Given the description of an element on the screen output the (x, y) to click on. 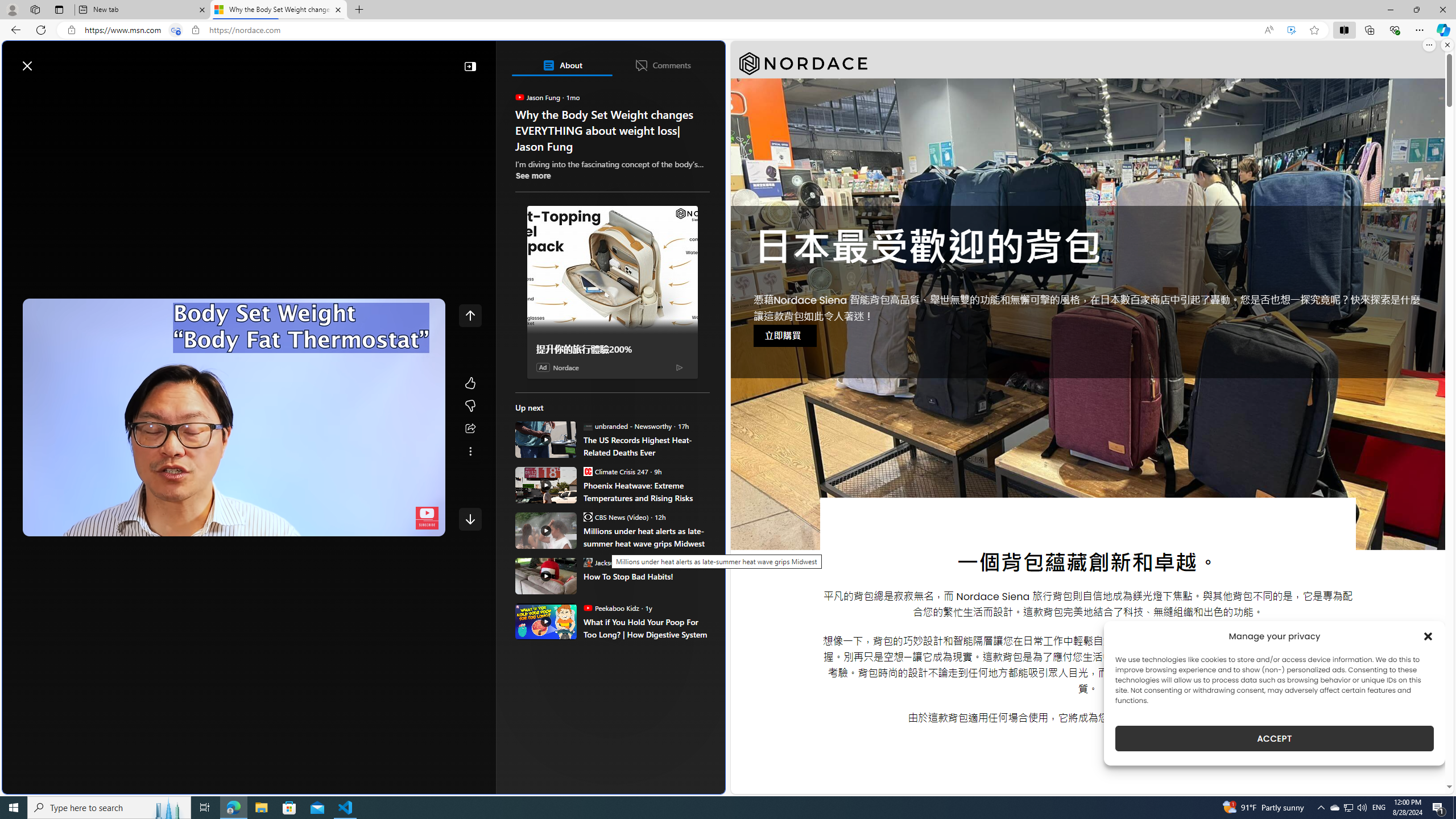
Open Copilot (565, 59)
View site information (195, 29)
Restore (1416, 9)
Tab actions menu (58, 9)
Class: button-glyph (16, 92)
Copilot (Ctrl+Shift+.) (1442, 29)
Browser essentials (1394, 29)
Skip to footer (46, 59)
unbranded - Newsworthy (587, 425)
Split screen (1344, 29)
How To Stop Bad Habits! (646, 576)
Channel watermark (427, 517)
